Given the description of an element on the screen output the (x, y) to click on. 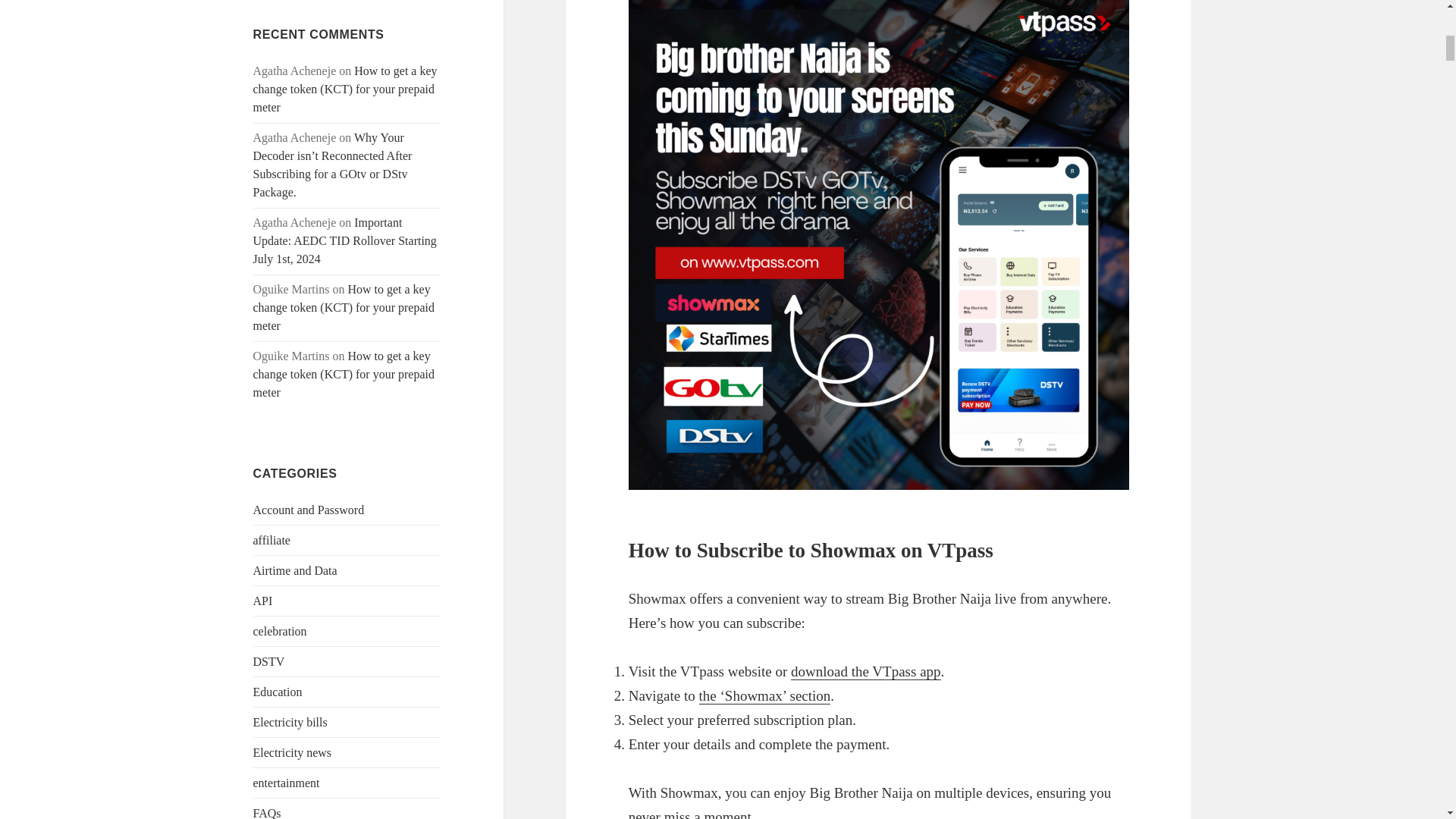
Important Update: AEDC TID Rollover Starting July 1st, 2024 (344, 240)
Education (277, 691)
celebration (280, 631)
Account and Password (309, 509)
DSTV (269, 661)
FAQs (267, 812)
entertainment (286, 782)
Electricity news (292, 752)
Airtime and Data (295, 570)
Electricity bills (290, 721)
API (263, 600)
affiliate (271, 540)
